Given the description of an element on the screen output the (x, y) to click on. 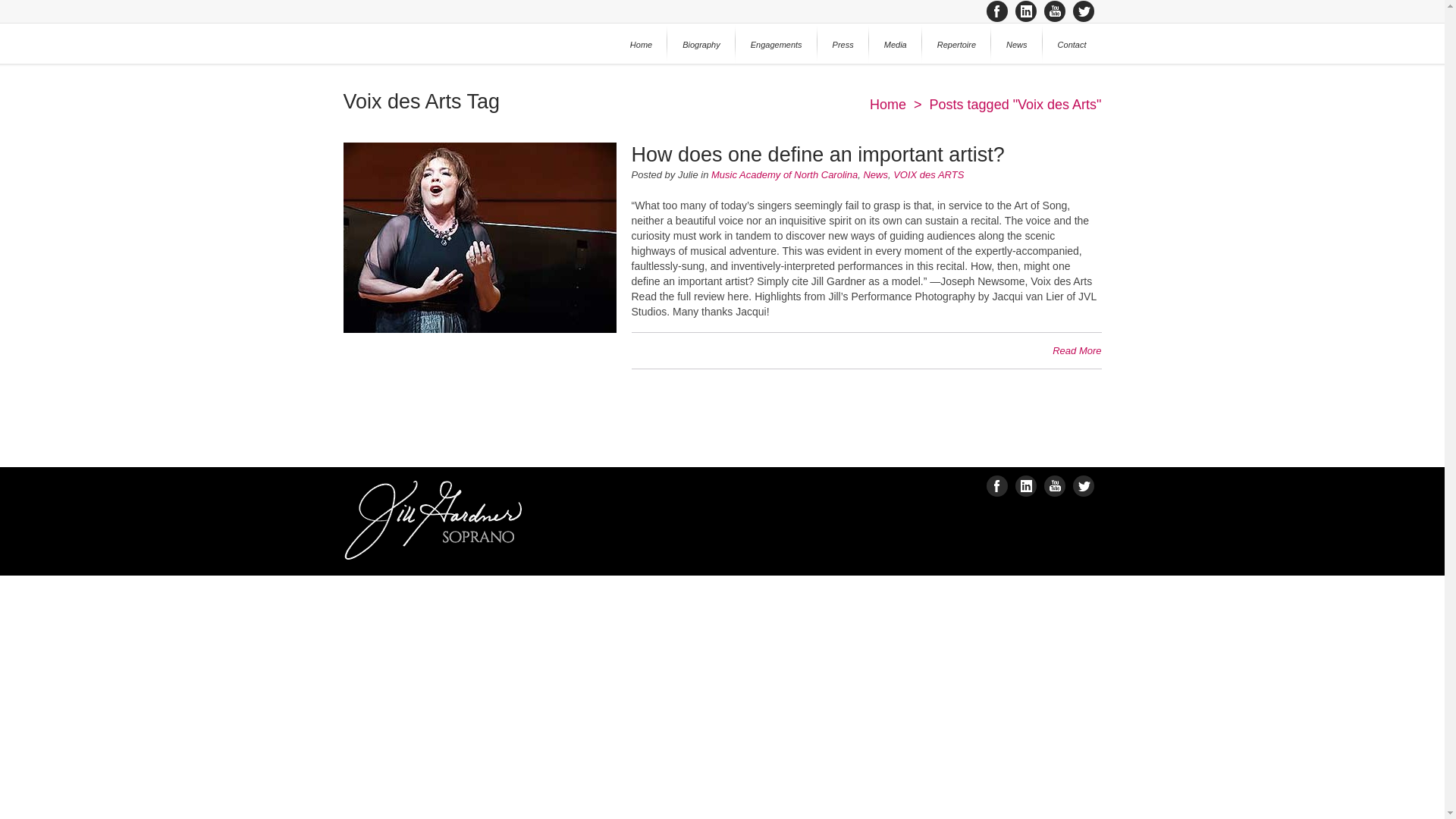
Home (640, 43)
How does one define an important artist? (1076, 350)
twitter (1082, 11)
How does one define an important artist? (817, 154)
Press (842, 43)
Home (887, 104)
Media (895, 43)
Engagements (775, 43)
Contact (1072, 43)
youtube (1053, 11)
How does one define an important artist? (817, 154)
How does one define an important artist? (478, 328)
Biography (700, 43)
linkedin (1024, 11)
Repertoire (956, 43)
